Given the description of an element on the screen output the (x, y) to click on. 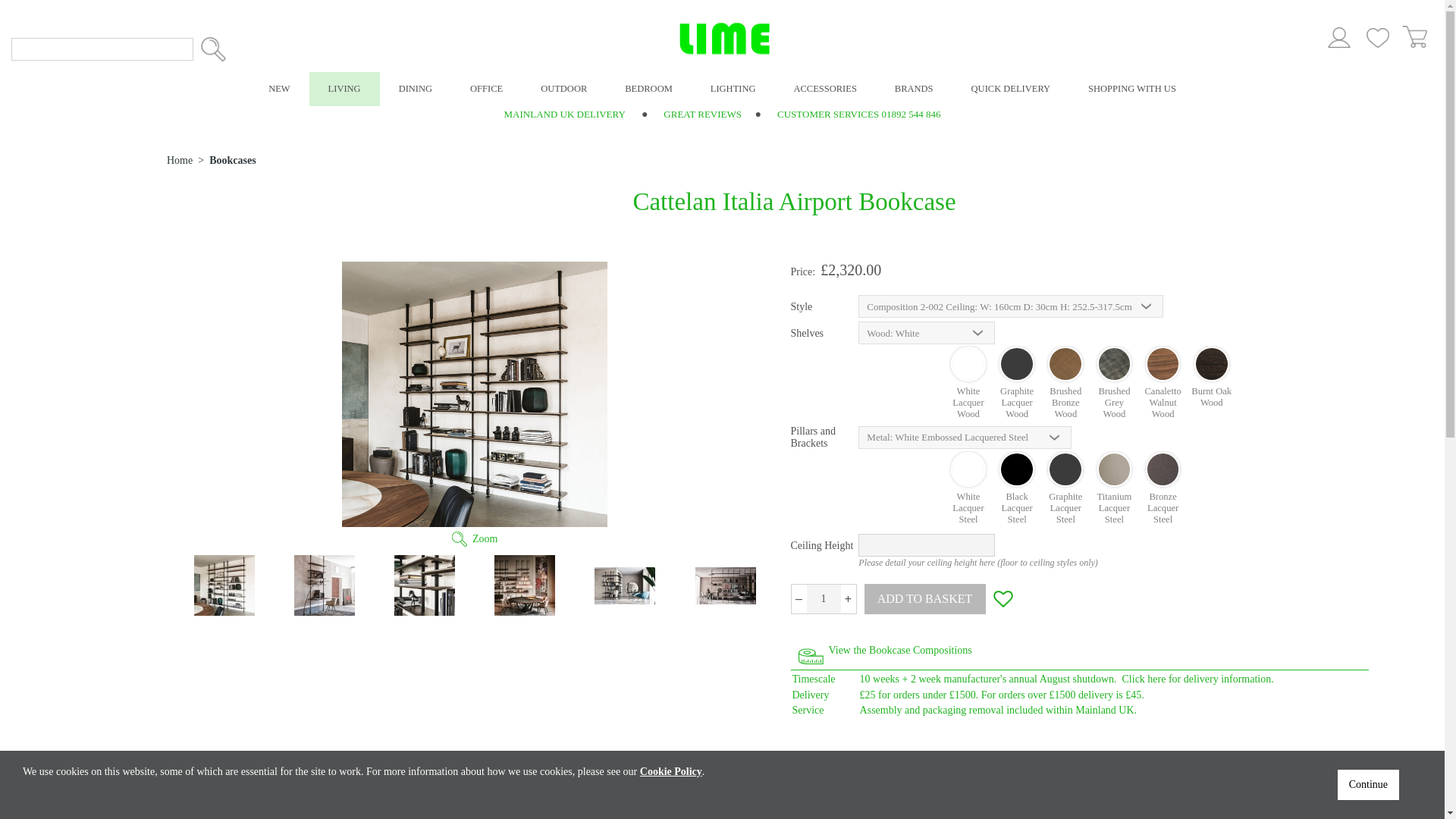
Add To Your Favourites (1002, 598)
Cattelan Italia Airport Bookcase (474, 394)
Go (212, 48)
Assembly and packaging removal included within Mainland UK. (1113, 710)
Go (212, 48)
View the Bookcase Compositions (276, 813)
Home (179, 160)
Bookcases (232, 160)
Timescale (819, 679)
Zoom (484, 538)
